Given the description of an element on the screen output the (x, y) to click on. 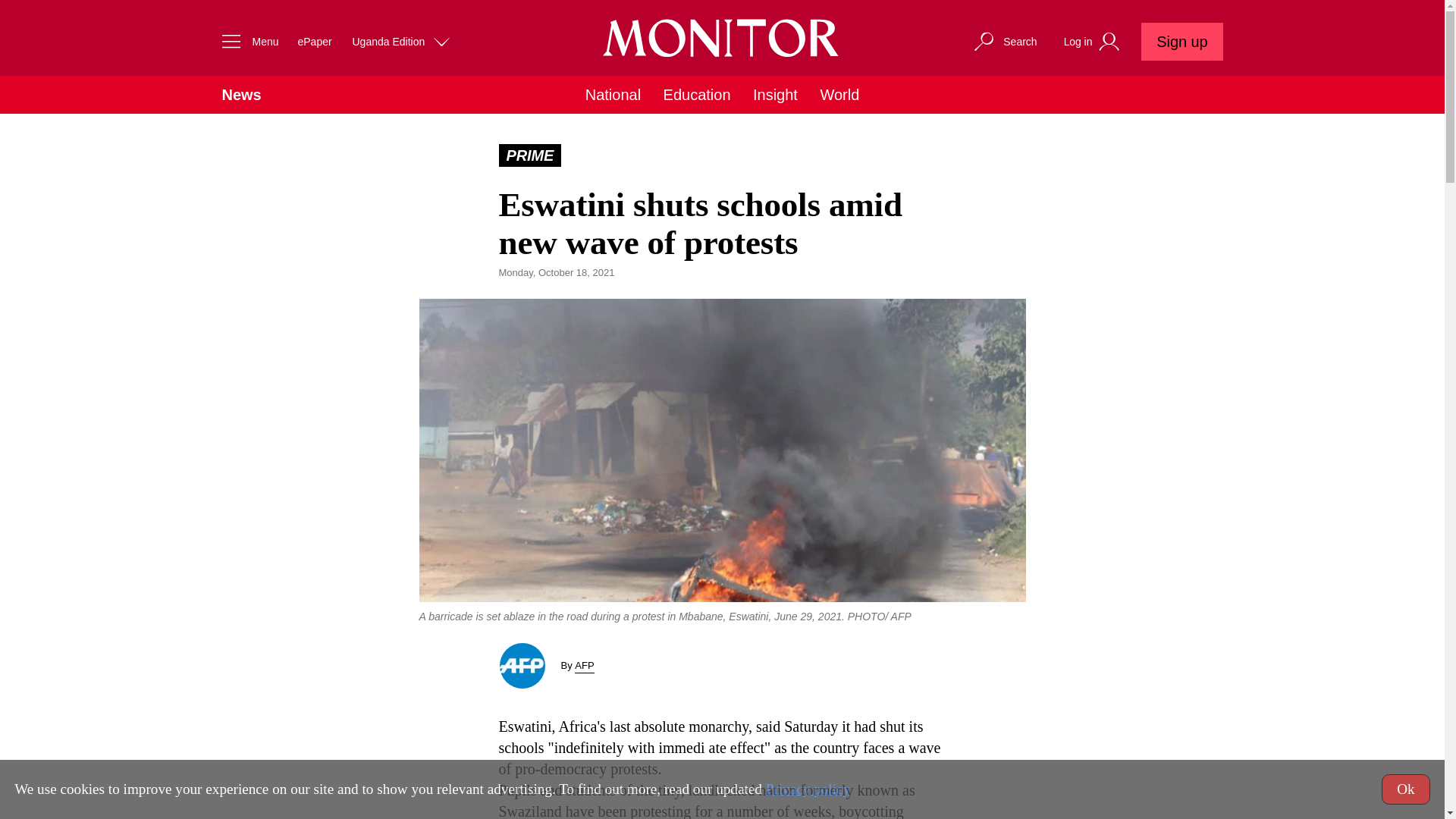
Menu (246, 41)
Sign up (1182, 41)
Insight (774, 94)
Privacy policy (807, 788)
World (839, 94)
Privacy policy (807, 788)
Ok (1405, 788)
Uganda Edition (401, 41)
News (240, 94)
Education (696, 94)
Search (1003, 41)
National (612, 94)
ePaper (314, 41)
Log in (1094, 41)
